Given the description of an element on the screen output the (x, y) to click on. 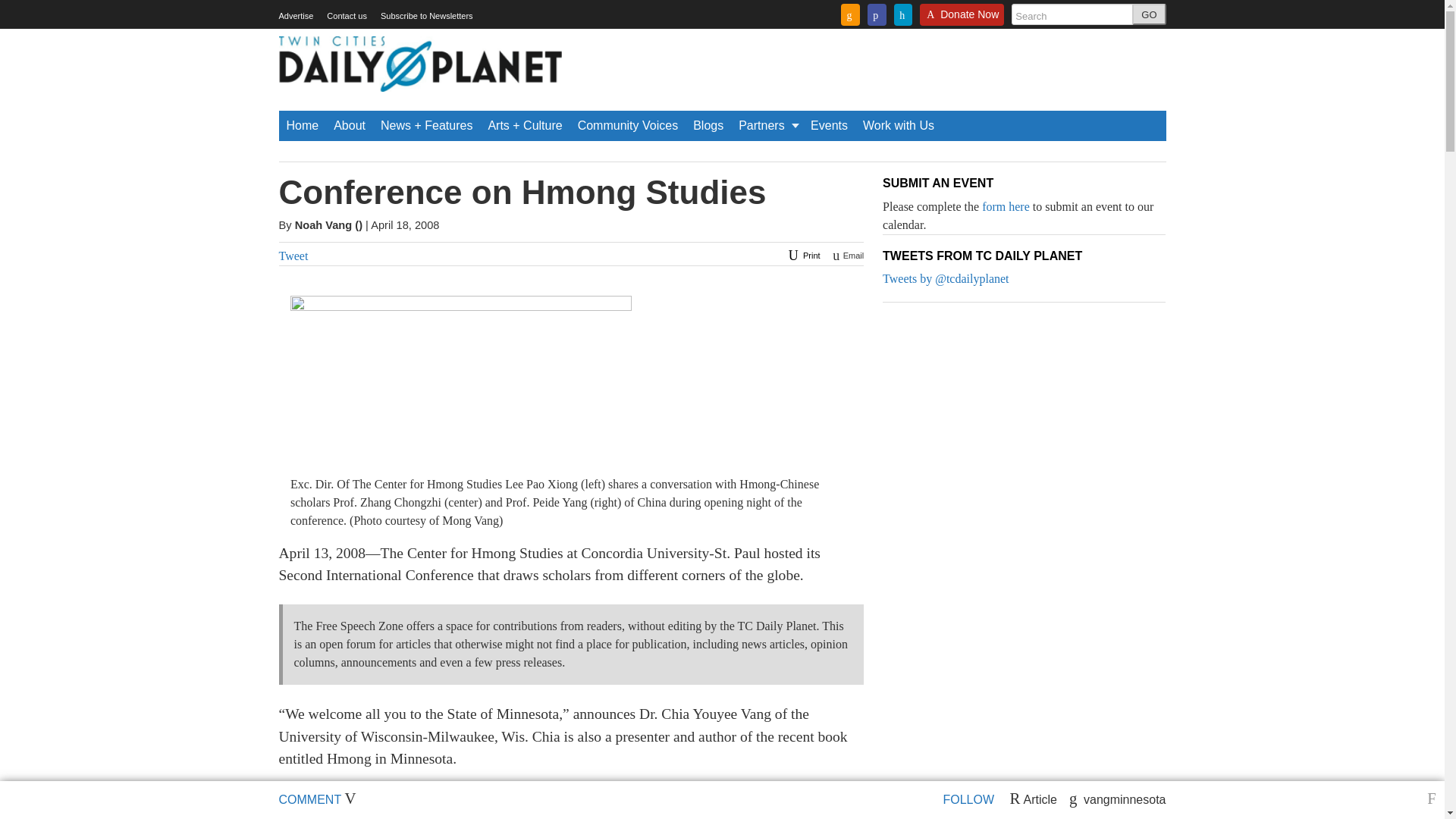
Print (801, 255)
About (349, 125)
Work with Us (899, 125)
Partners (766, 125)
Contact us (346, 15)
GO (1149, 14)
Print this article (801, 255)
Community Voices (627, 125)
Tweet (293, 255)
Read Posts in the Article category (1033, 799)
Events (829, 125)
Subscribe to Newsletters (426, 15)
Donate Now (962, 19)
Blogs (707, 125)
Advertise (296, 15)
